Given the description of an element on the screen output the (x, y) to click on. 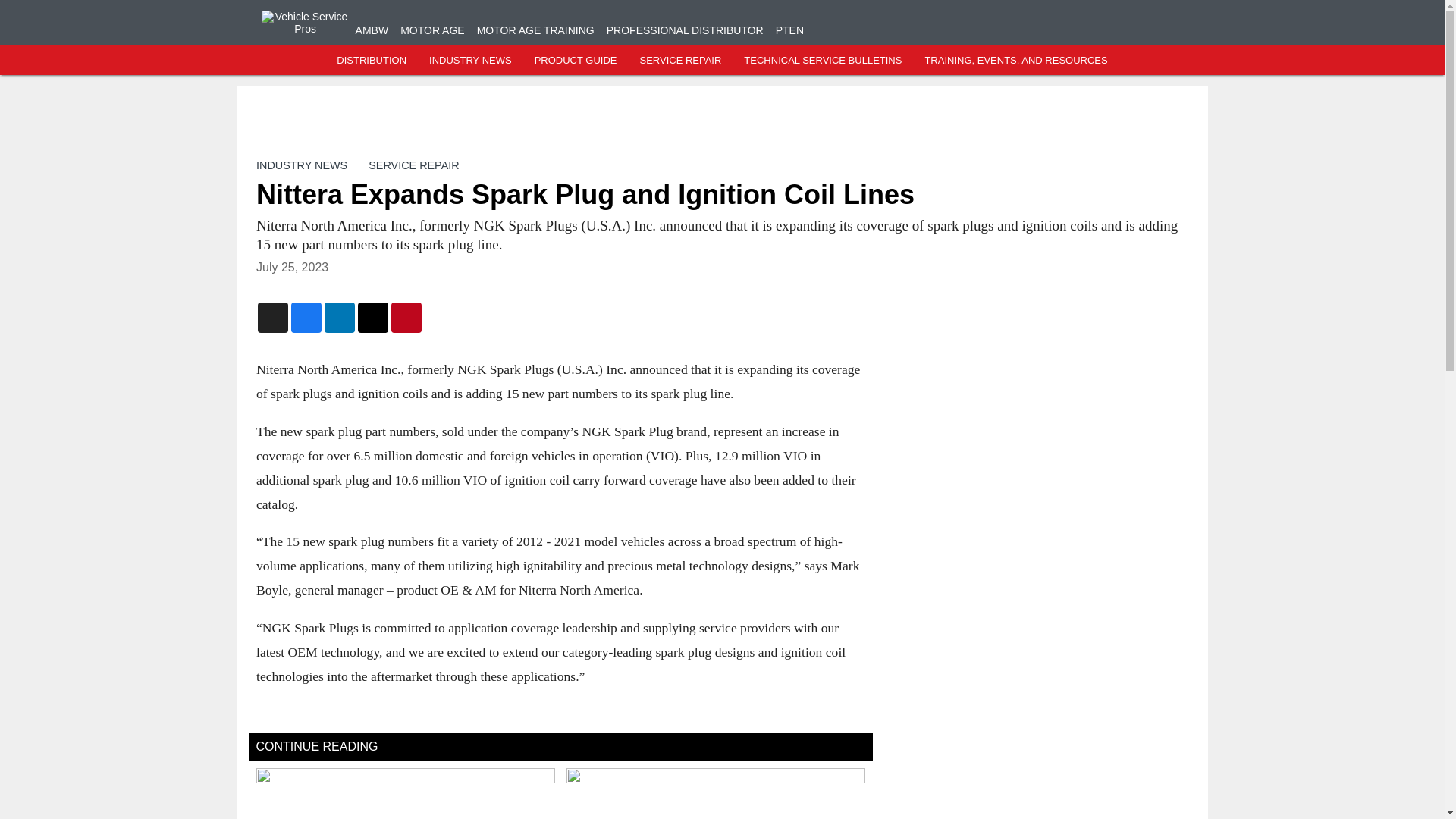
SERVICE REPAIR (679, 60)
INDUSTRY NEWS (301, 164)
AMBW (371, 30)
DISTRIBUTION (371, 60)
PROFESSIONAL DISTRIBUTOR (684, 30)
MOTOR AGE (432, 30)
MOTOR AGE TRAINING (535, 30)
INDUSTRY NEWS (470, 60)
SERVICE REPAIR (413, 164)
TECHNICAL SERVICE BULLETINS (822, 60)
